Given the description of an element on the screen output the (x, y) to click on. 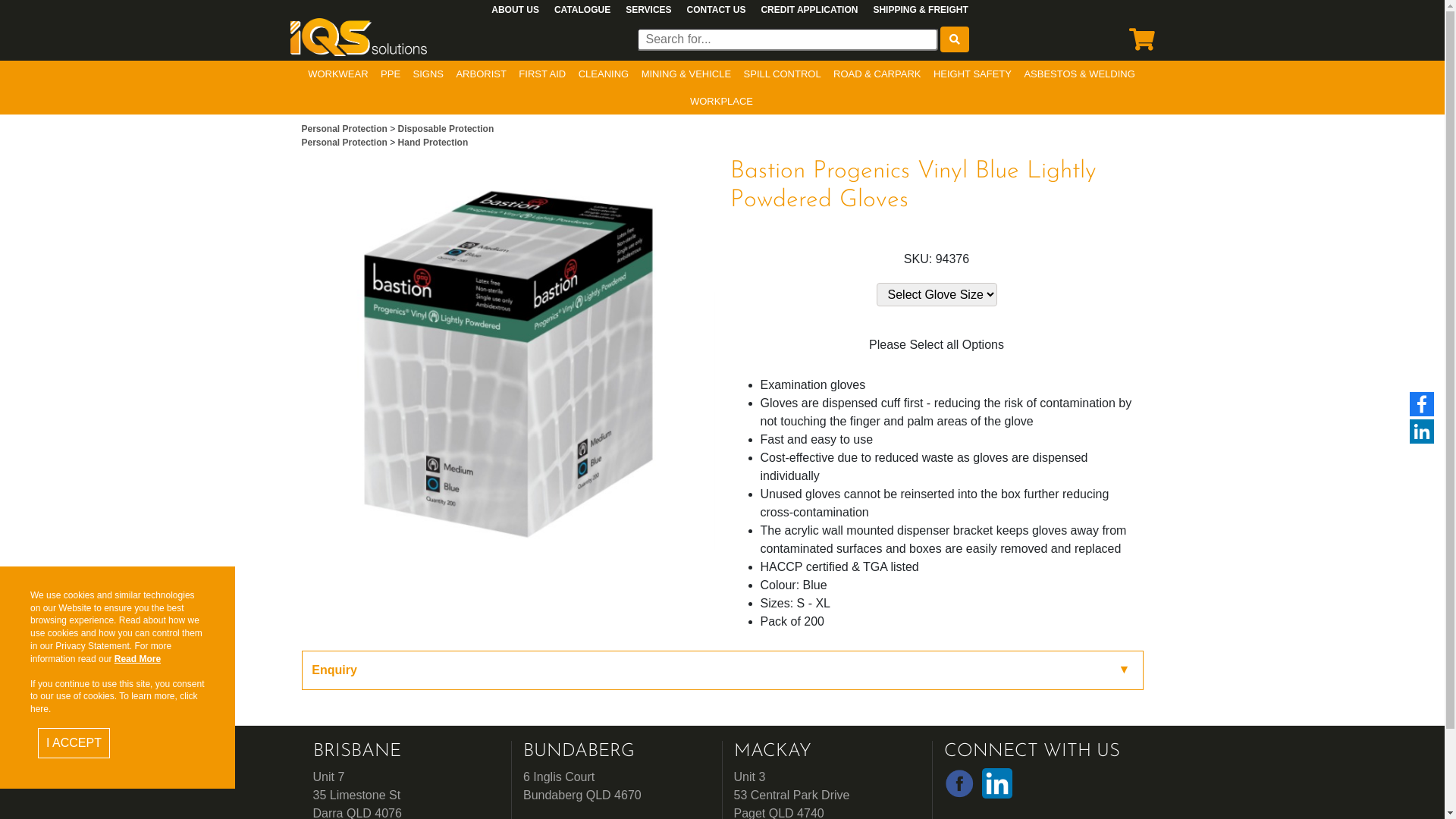
Personal Protection Element type: text (345, 128)
ABOUT US Element type: text (515, 9)
SPILL CONTROL Element type: text (782, 73)
SIGNS Element type: text (428, 73)
CATALOGUE Element type: text (582, 9)
MINING & VEHICLE Element type: text (685, 73)
ARBORIST Element type: text (480, 73)
Personal Protection Element type: text (345, 142)
Business Logo Element type: hover (357, 35)
CONTACT US Element type: text (716, 9)
ASBESTOS & WELDING Element type: text (1078, 73)
product title Element type: hover (787, 39)
FIRST AID Element type: text (541, 73)
ROAD & CARPARK Element type: text (876, 73)
CREDIT APPLICATION Element type: text (808, 9)
I ACCEPT Element type: text (73, 743)
WORKWEAR Element type: text (337, 73)
Hand Protection Element type: text (433, 142)
PPE Element type: text (390, 73)
Read More Element type: text (137, 658)
CLEANING Element type: text (603, 73)
WORKPLACE Element type: text (721, 101)
SERVICES Element type: text (648, 9)
SHIPPING & FREIGHT Element type: text (919, 9)
HEIGHT SAFETY Element type: text (972, 73)
Disposable Protection Element type: text (446, 128)
